Given the description of an element on the screen output the (x, y) to click on. 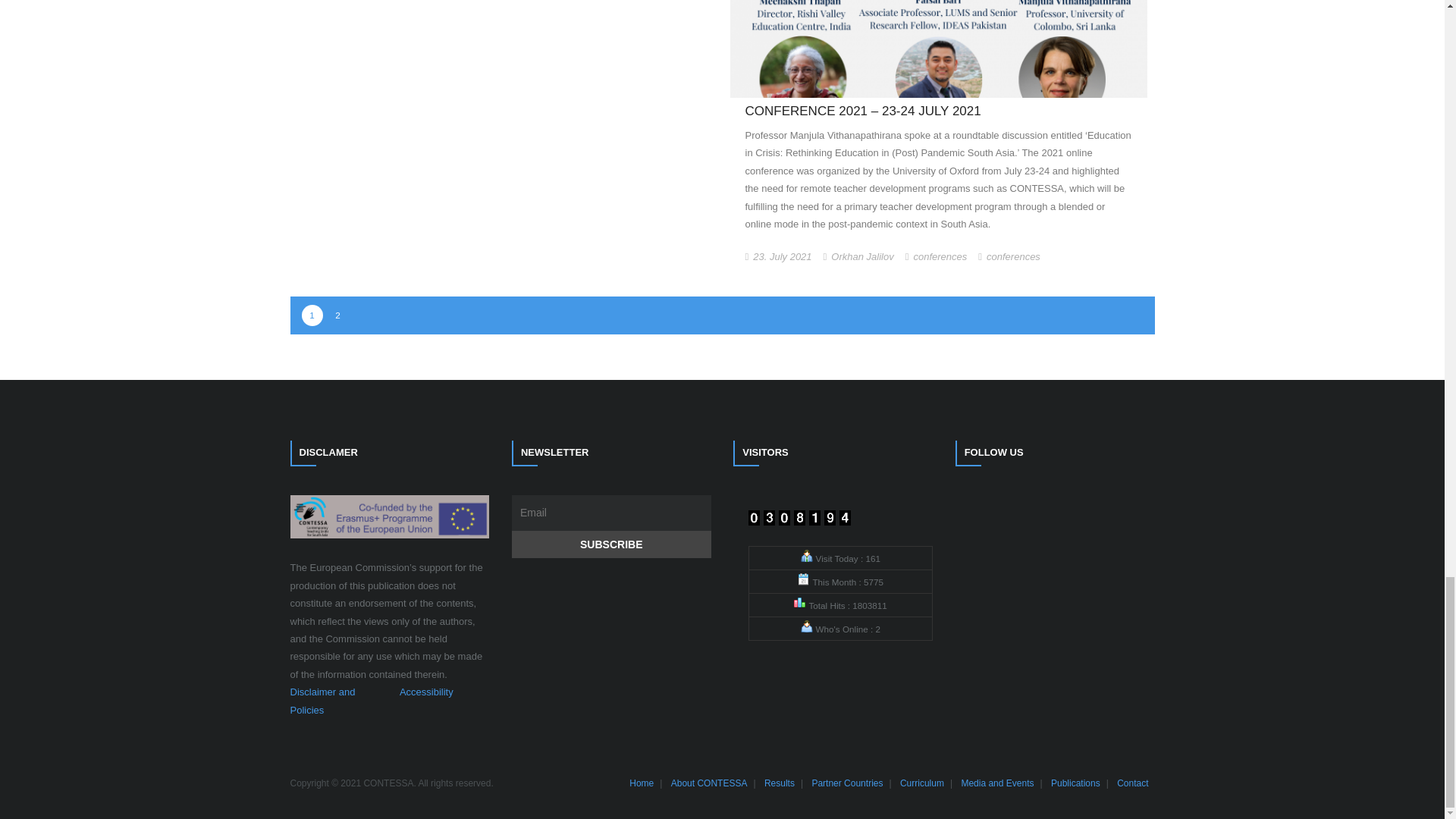
Subscribe (611, 543)
